Given the description of an element on the screen output the (x, y) to click on. 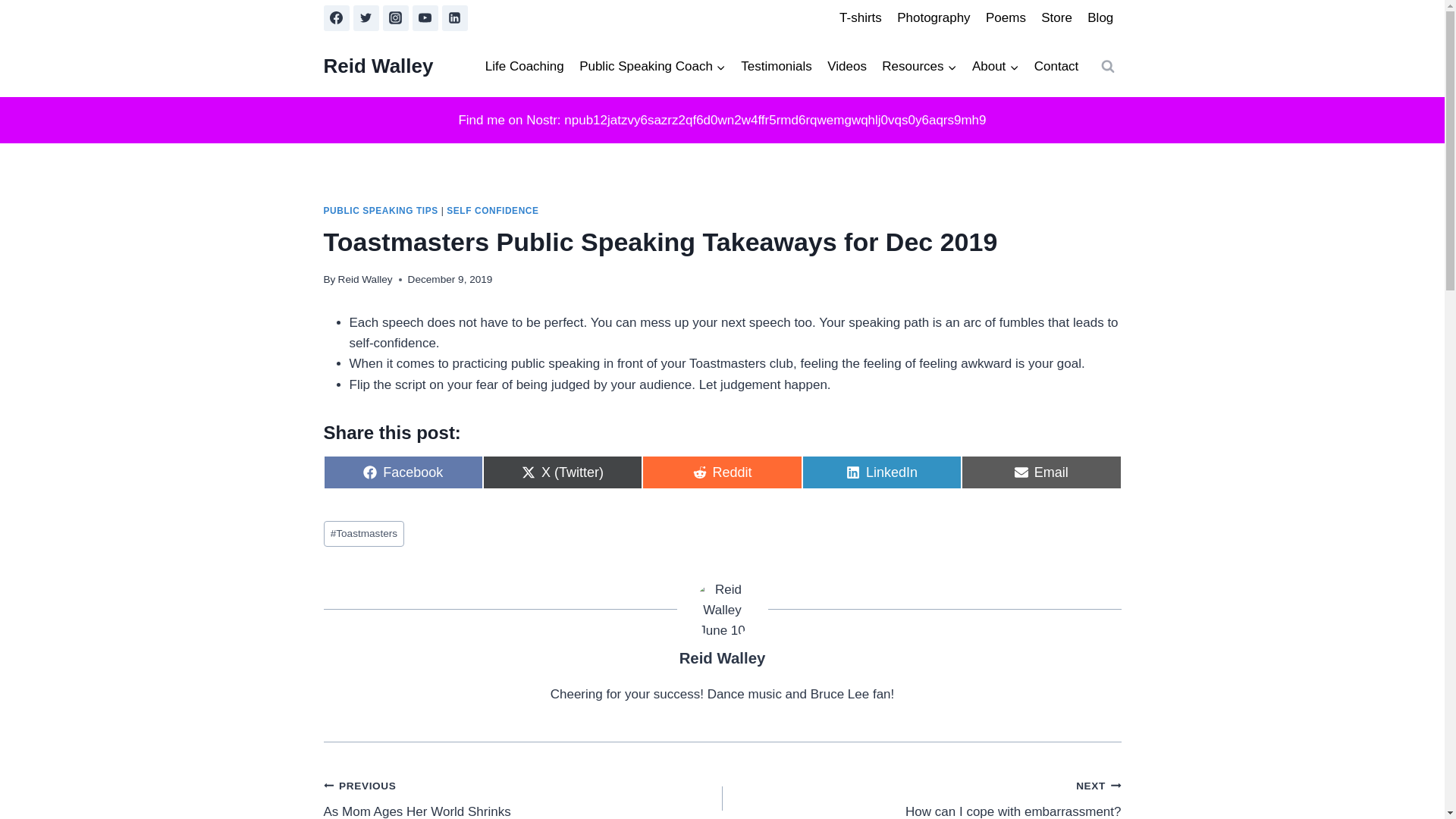
Testimonials (776, 66)
Toastmasters (363, 533)
Public Speaking Coach (652, 66)
About (994, 66)
Blog (1100, 18)
Store (1056, 18)
SELF CONFIDENCE (492, 210)
Videos (847, 66)
Poems (1005, 18)
Photography (933, 18)
PUBLIC SPEAKING TIPS (380, 210)
Life Coaching (524, 66)
Reid Walley (377, 65)
Resources (919, 66)
Posts by Reid Walley (722, 658)
